Given the description of an element on the screen output the (x, y) to click on. 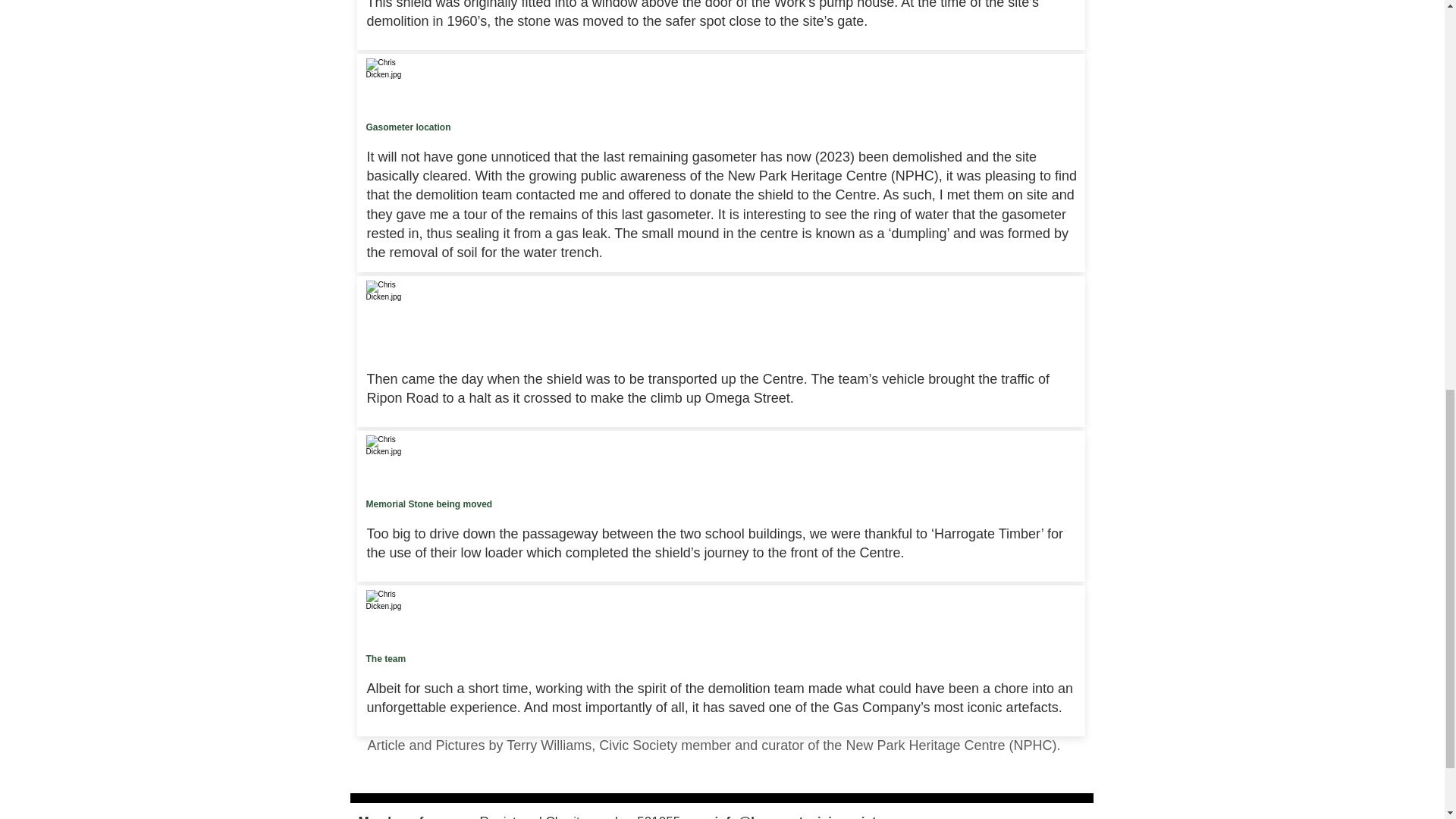
004 web.jpg (386, 78)
007 web.jpg (386, 610)
006 web.jpg (386, 455)
005 web.jpg (386, 301)
